Given the description of an element on the screen output the (x, y) to click on. 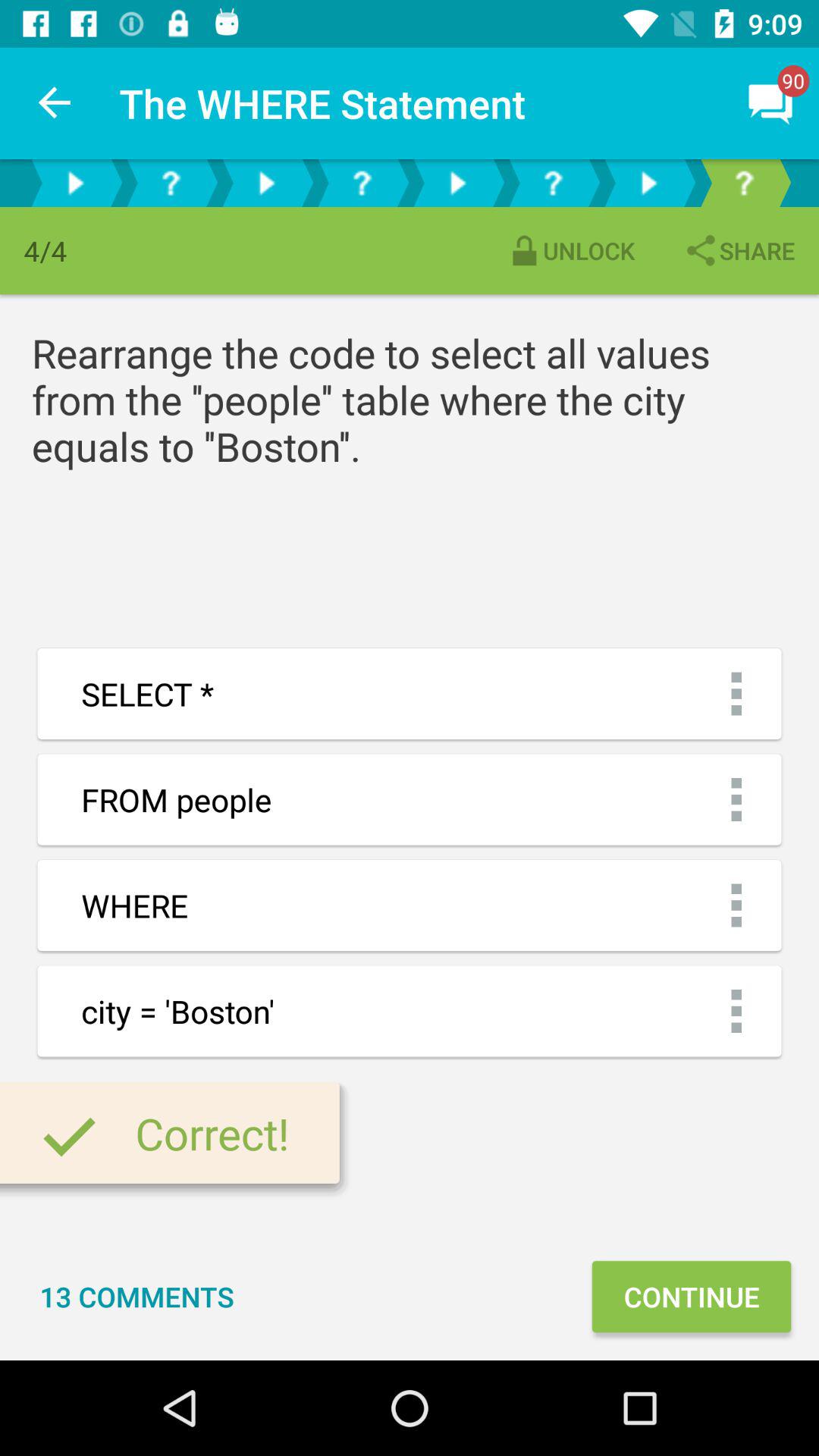
next question (265, 183)
